Given the description of an element on the screen output the (x, y) to click on. 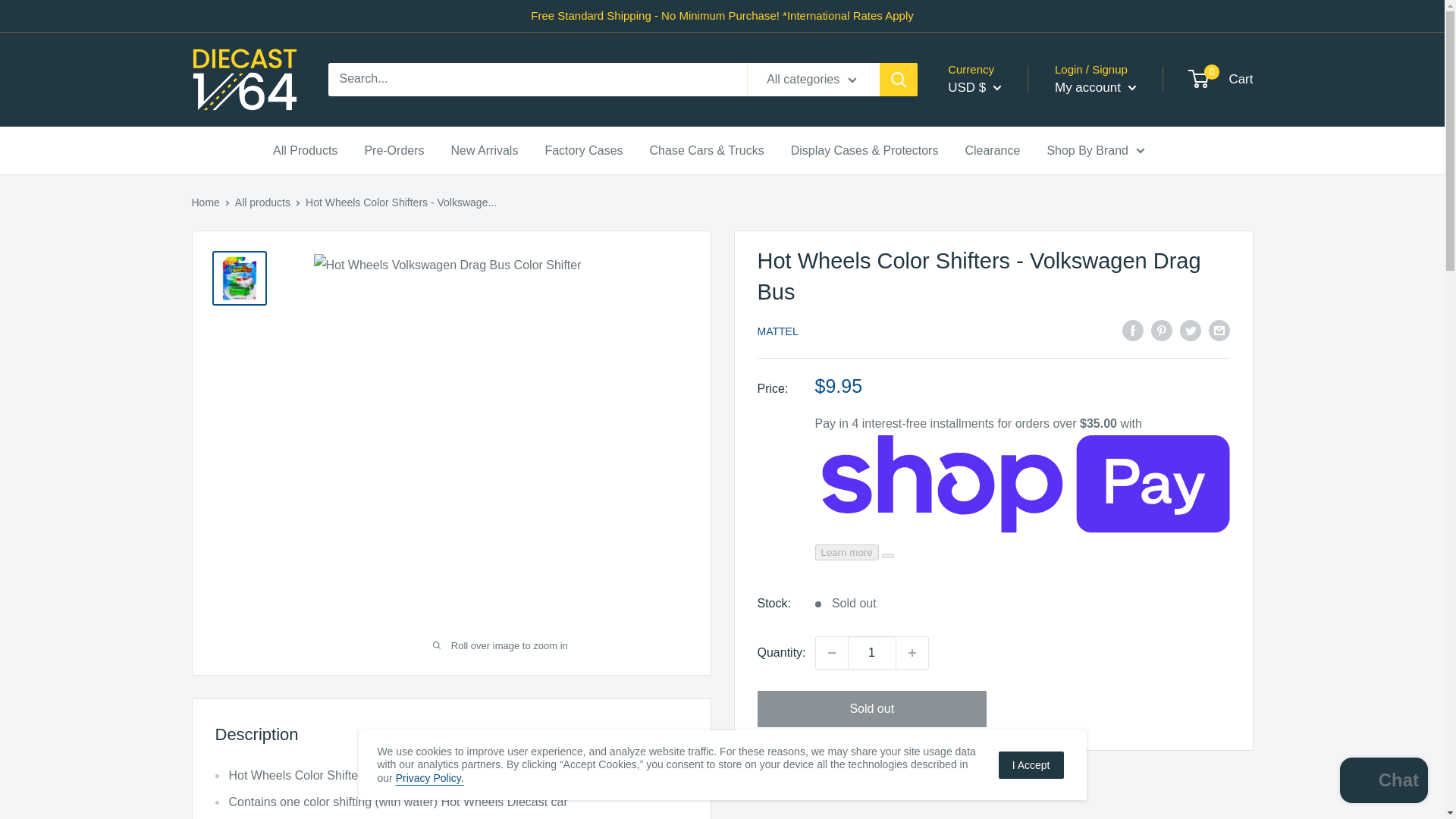
1 (871, 653)
AED (998, 252)
Decrease quantity by 1 (831, 653)
ALL (998, 275)
Shopify online store chat (1383, 781)
Diecast 164, LLC (243, 79)
Increase quantity by 1 (912, 653)
Diecast 164 Privacy Policy From Cookie Pop Up (430, 777)
